Given the description of an element on the screen output the (x, y) to click on. 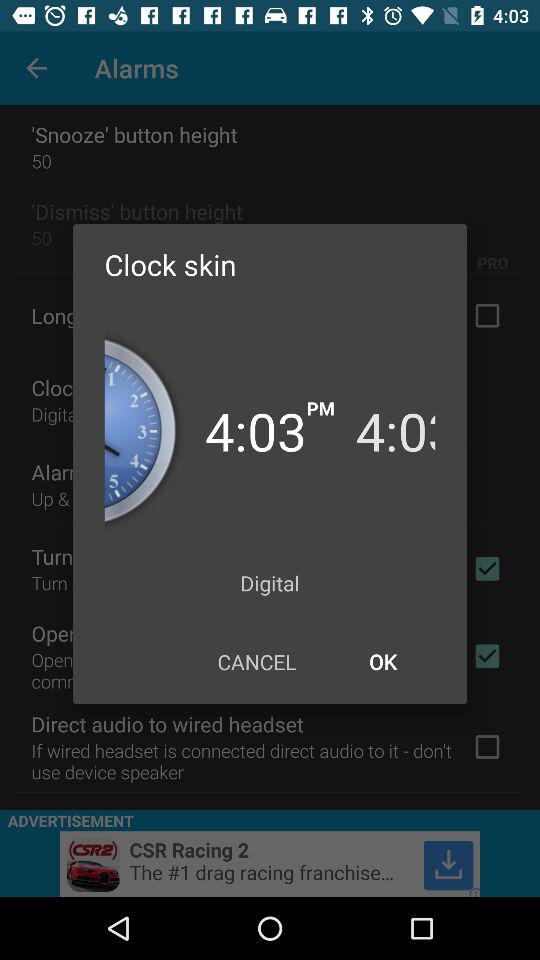
press icon to the left of the ok item (256, 661)
